Given the description of an element on the screen output the (x, y) to click on. 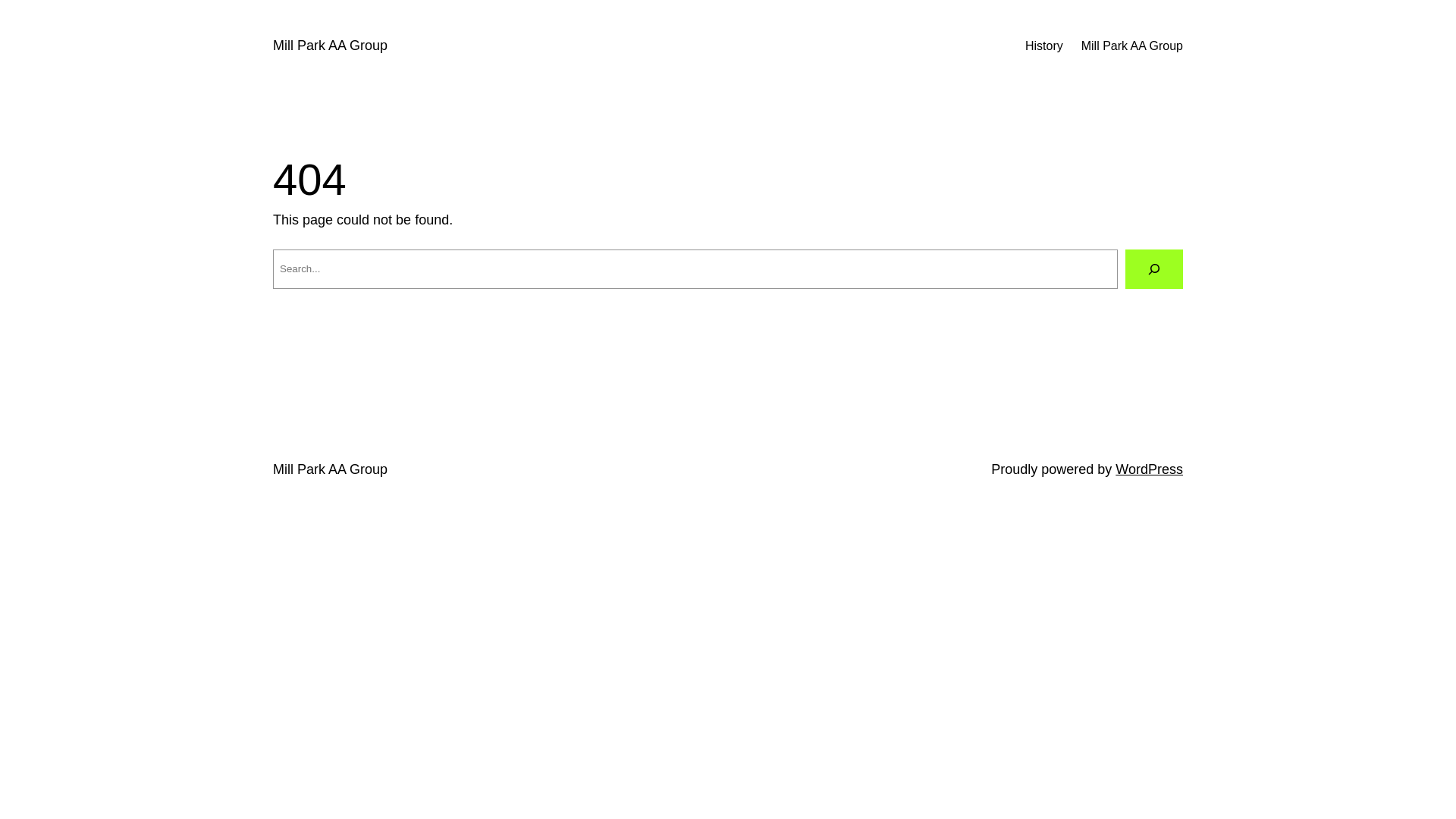
Mill Park AA Group Element type: text (330, 468)
History Element type: text (1044, 46)
Mill Park AA Group Element type: text (1132, 46)
Mill Park AA Group Element type: text (330, 45)
WordPress Element type: text (1149, 468)
